Given the description of an element on the screen output the (x, y) to click on. 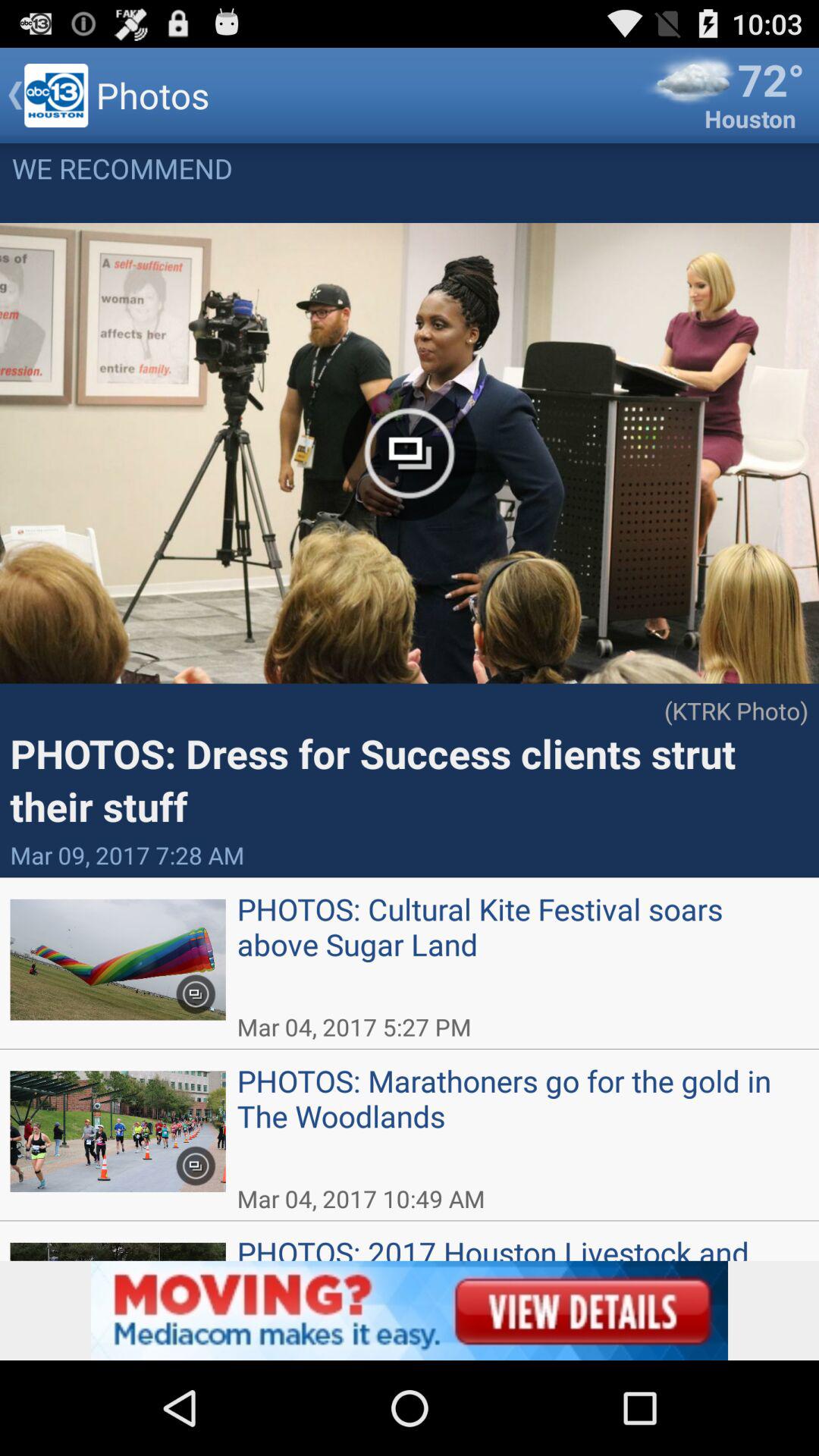
go mediacom (409, 1310)
